Given the description of an element on the screen output the (x, y) to click on. 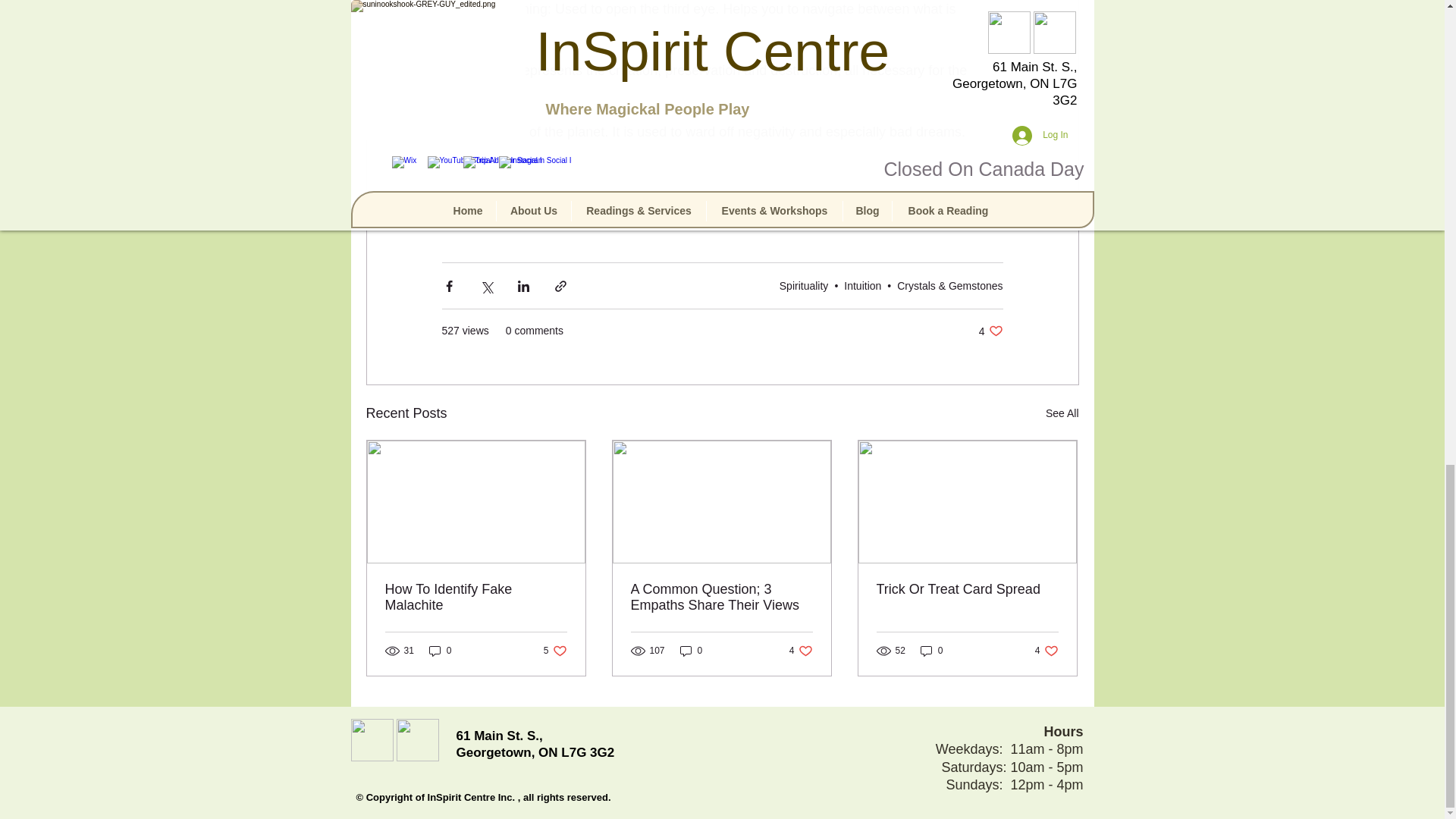
Call Us... (990, 330)
Email Us.... (371, 740)
Intuition (417, 740)
Spirituality (862, 285)
